Given the description of an element on the screen output the (x, y) to click on. 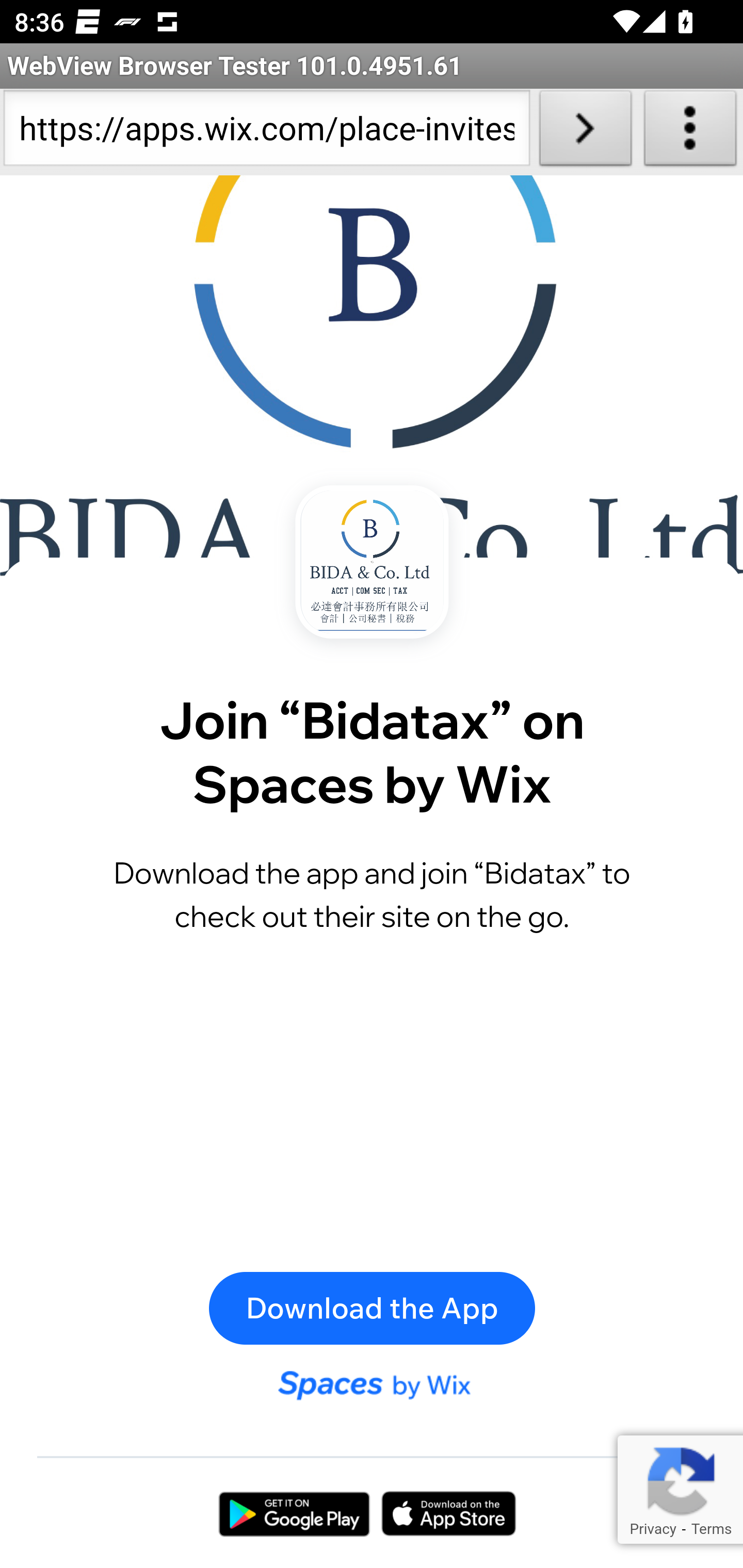
Load URL (585, 132)
About WebView (690, 132)
Download the App (371, 1308)
google-play-logo (293, 1513)
app-store-logo (449, 1513)
Privacy (652, 1527)
Terms (711, 1527)
